Given the description of an element on the screen output the (x, y) to click on. 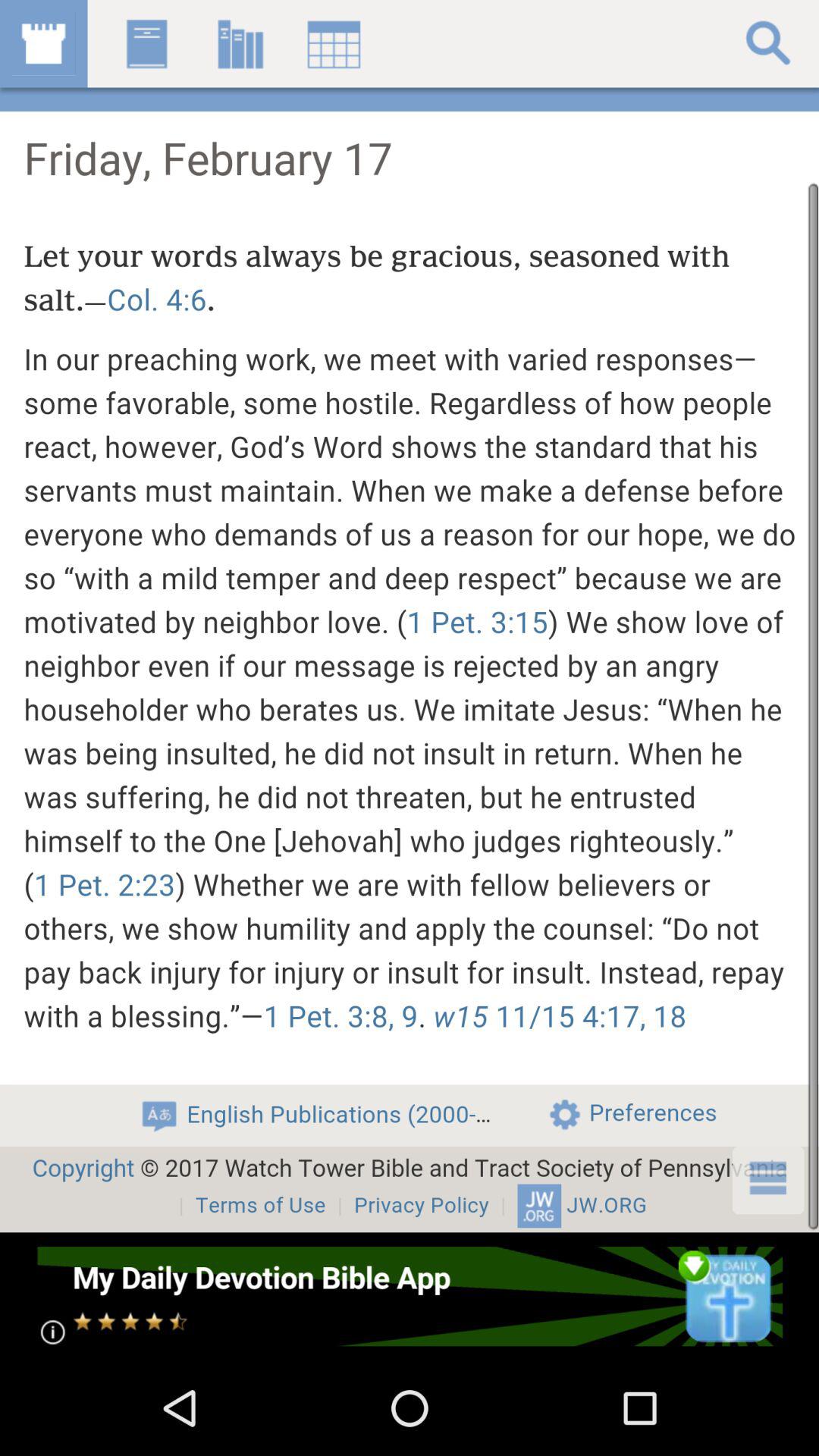
go to bible app (408, 1296)
